Given the description of an element on the screen output the (x, y) to click on. 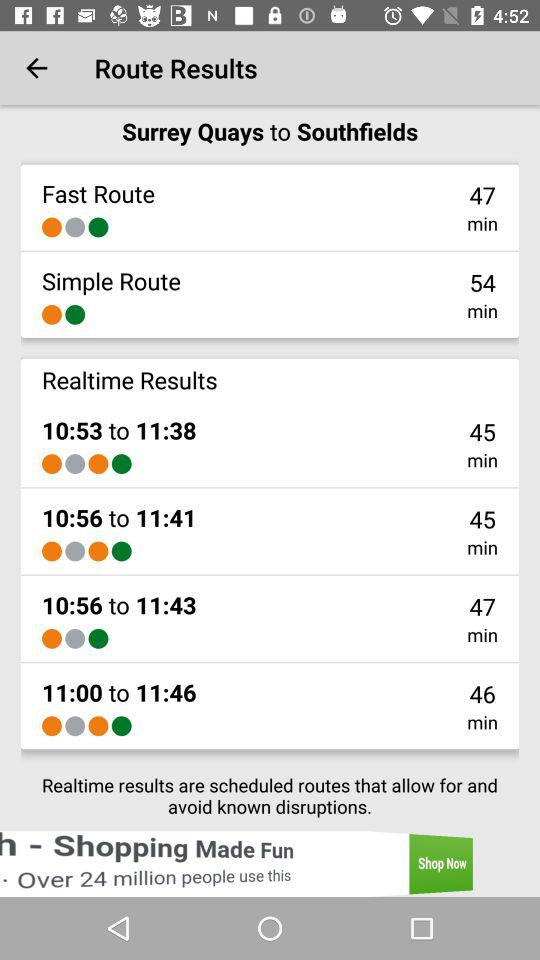
select item above the 10 56 to item (51, 551)
